Given the description of an element on the screen output the (x, y) to click on. 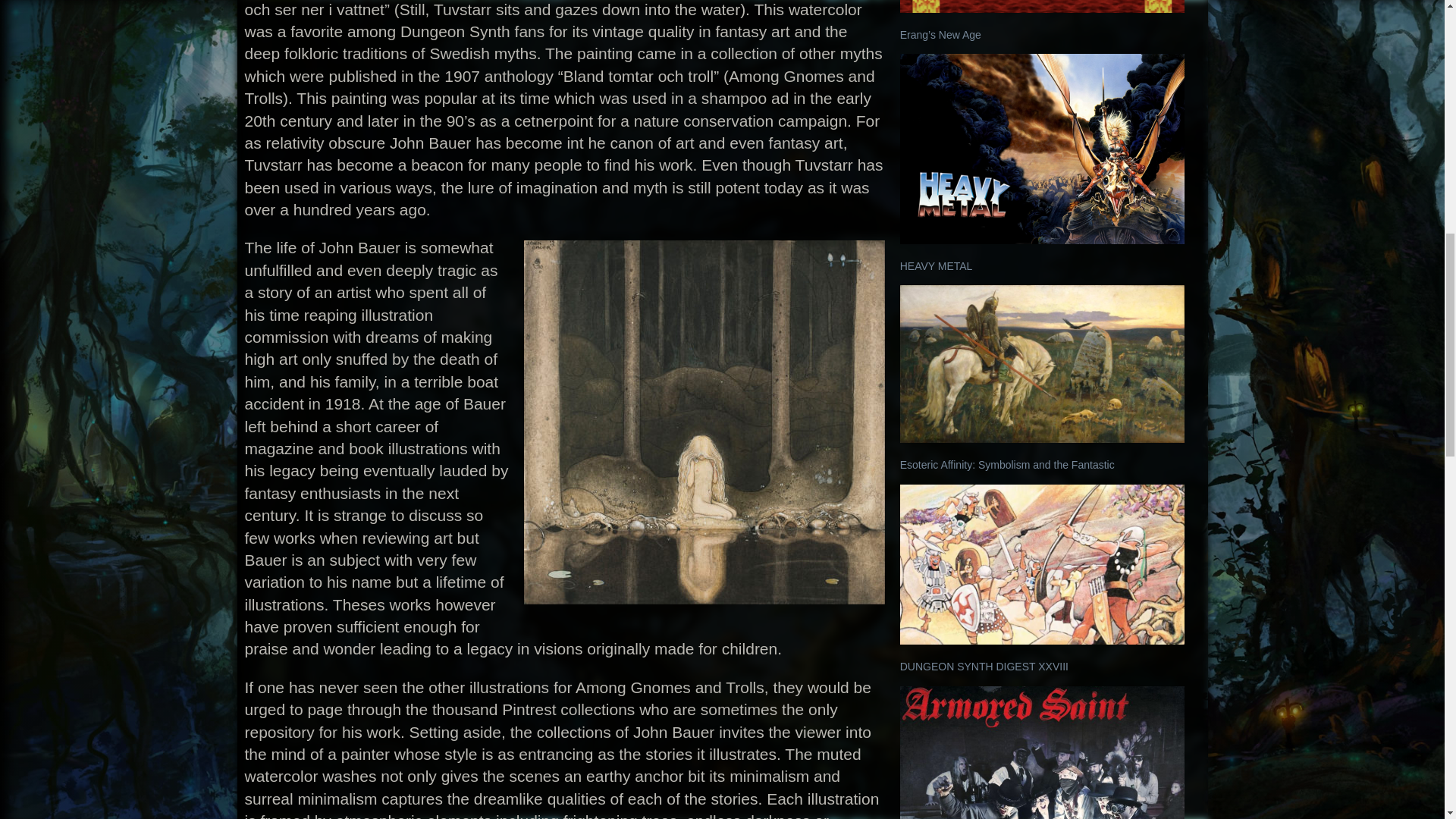
DUNGEON SYNTH DIGEST XXVIII (983, 666)
HEAVY METAL (935, 265)
Esoteric Affinity: Symbolism and the Fantastic (1007, 464)
